Given the description of an element on the screen output the (x, y) to click on. 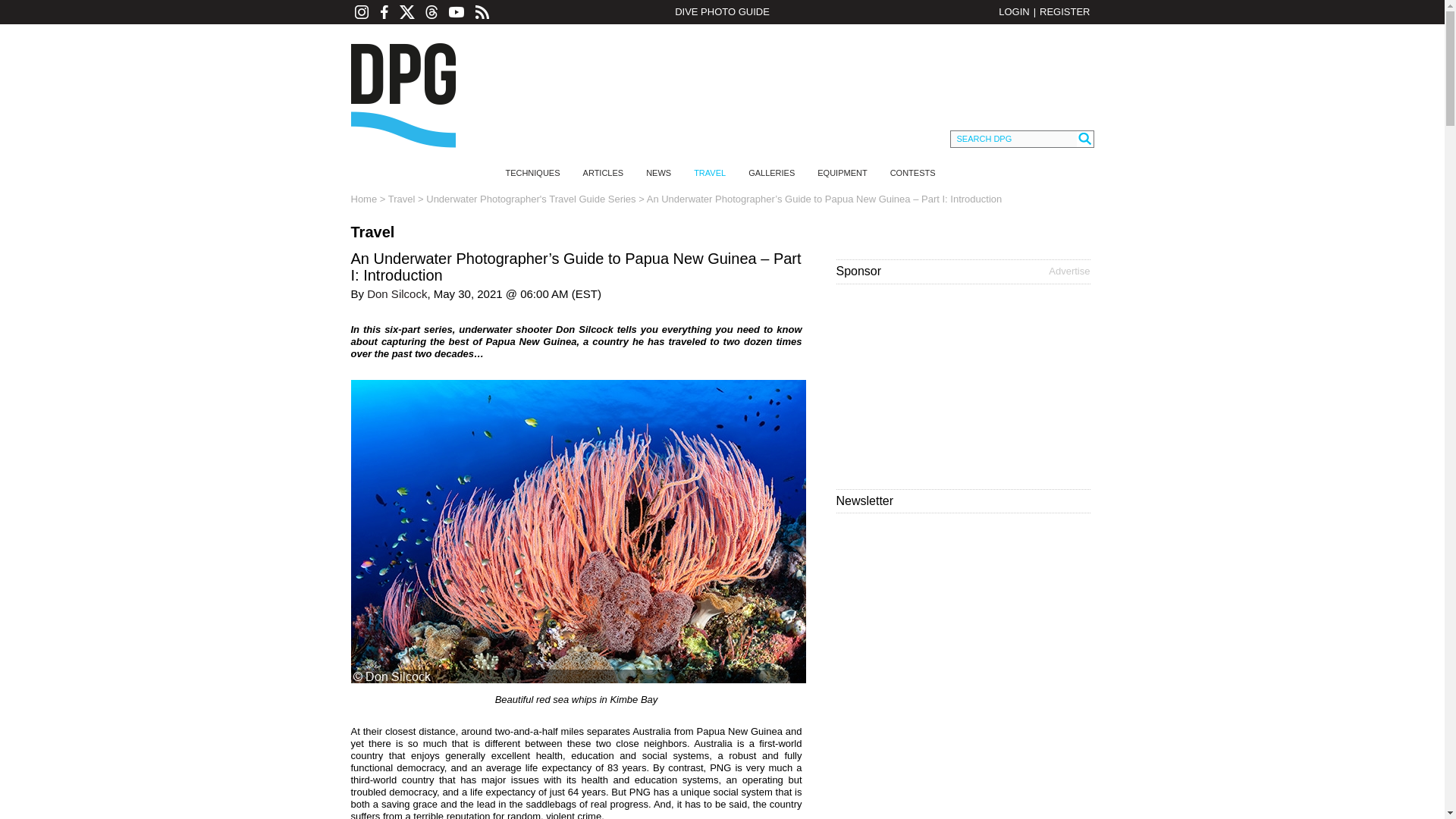
DIVE PHOTO GUIDE (721, 12)
Don Silcock (396, 293)
TRAVEL (709, 172)
ARTICLES (603, 172)
SEARCH DPG (1013, 139)
CONTESTS (912, 172)
TECHNIQUES (532, 172)
Travel (401, 198)
GALLERIES (771, 172)
Dive Photo Guide (402, 95)
